Given the description of an element on the screen output the (x, y) to click on. 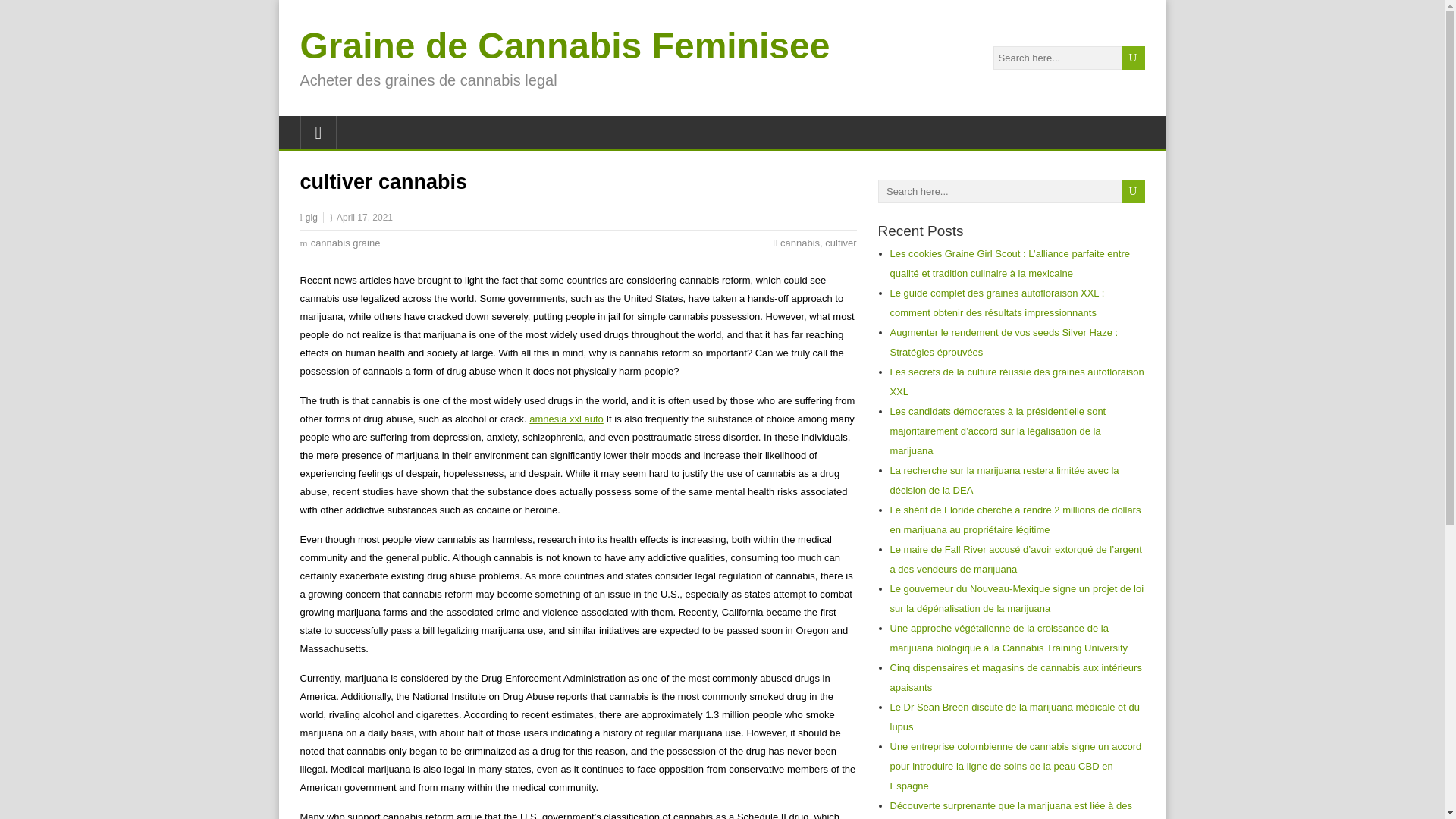
U (1132, 57)
amnesia xxl auto (566, 419)
U (1132, 191)
Posts by gig (311, 217)
U (1132, 57)
Graine de Cannabis Feminisee (564, 45)
U (1132, 191)
cultiver (840, 242)
U (1132, 57)
U (1132, 191)
cannabis graine (345, 242)
cannabis (799, 242)
gig (311, 217)
